Given the description of an element on the screen output the (x, y) to click on. 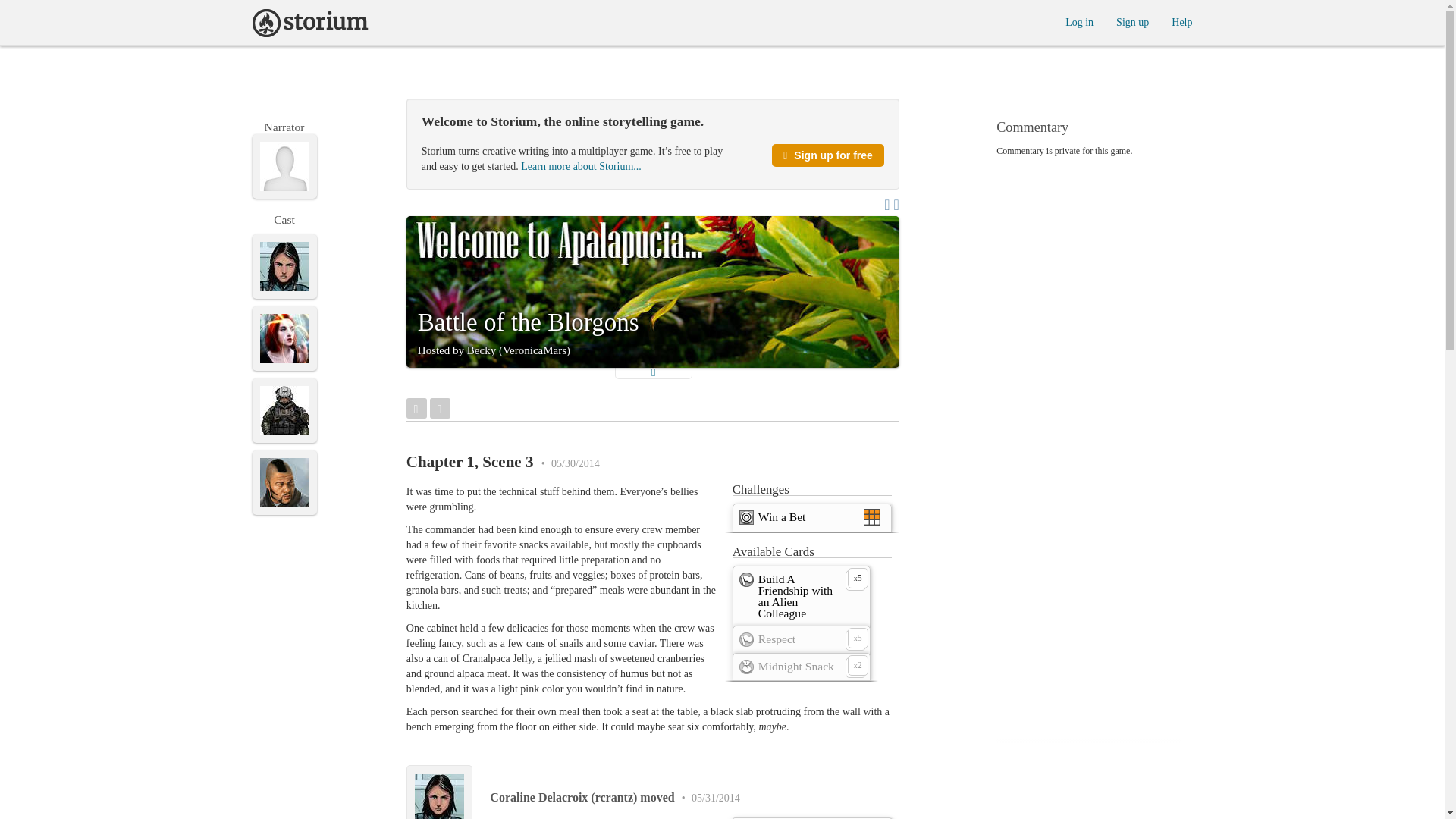
Coraline Delacroix (283, 266)
VeronicaMars (283, 165)
Help (1182, 21)
Matthias Sommer (283, 481)
Learn more about Storium... (581, 165)
First scene (416, 408)
Sign up (1132, 21)
Log in (1079, 21)
Commentary is private for this game. (1087, 150)
Sign up for free (827, 155)
